Given the description of an element on the screen output the (x, y) to click on. 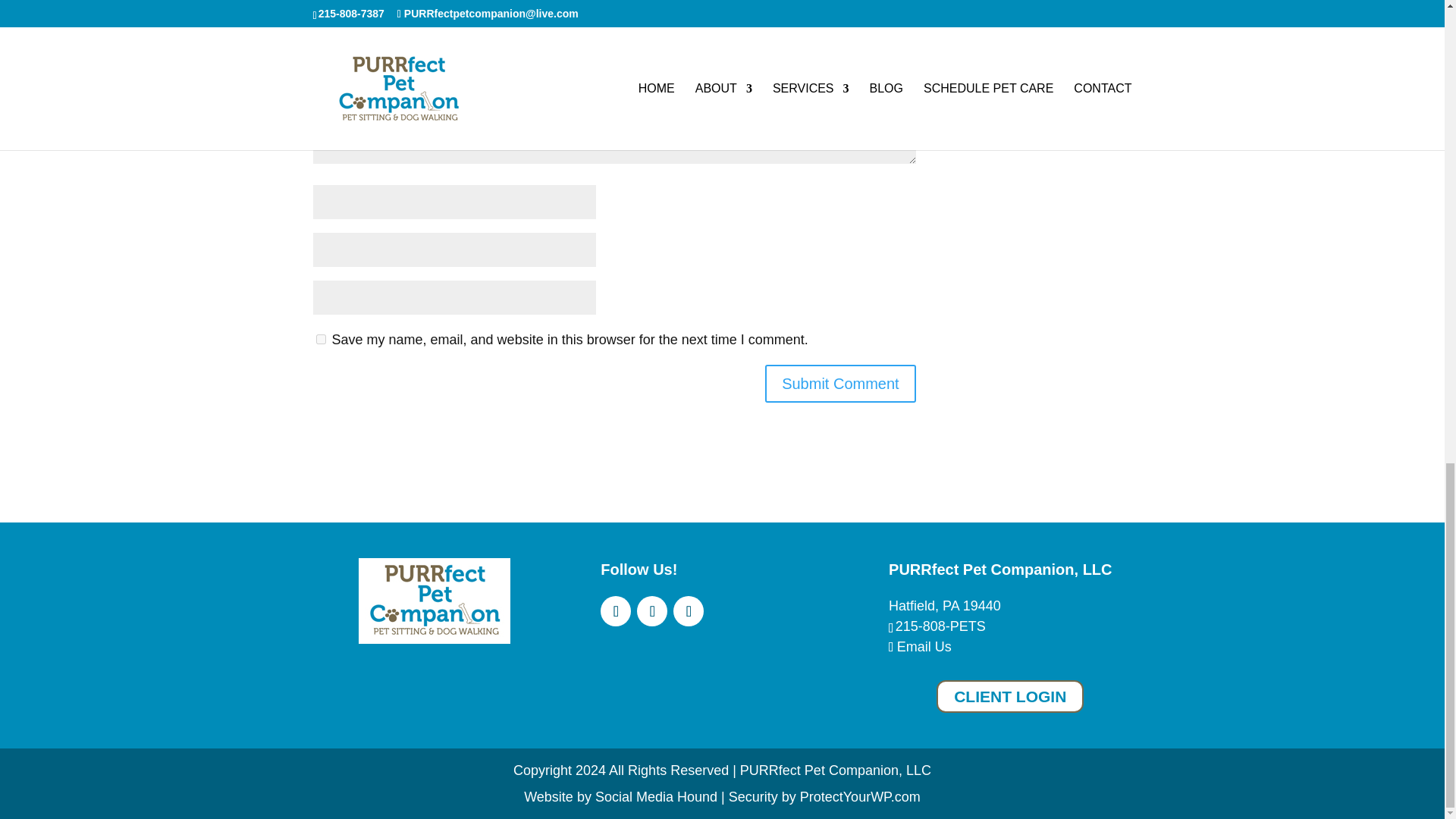
Submit Comment (840, 383)
yes (319, 338)
Submit Comment (840, 383)
